Given the description of an element on the screen output the (x, y) to click on. 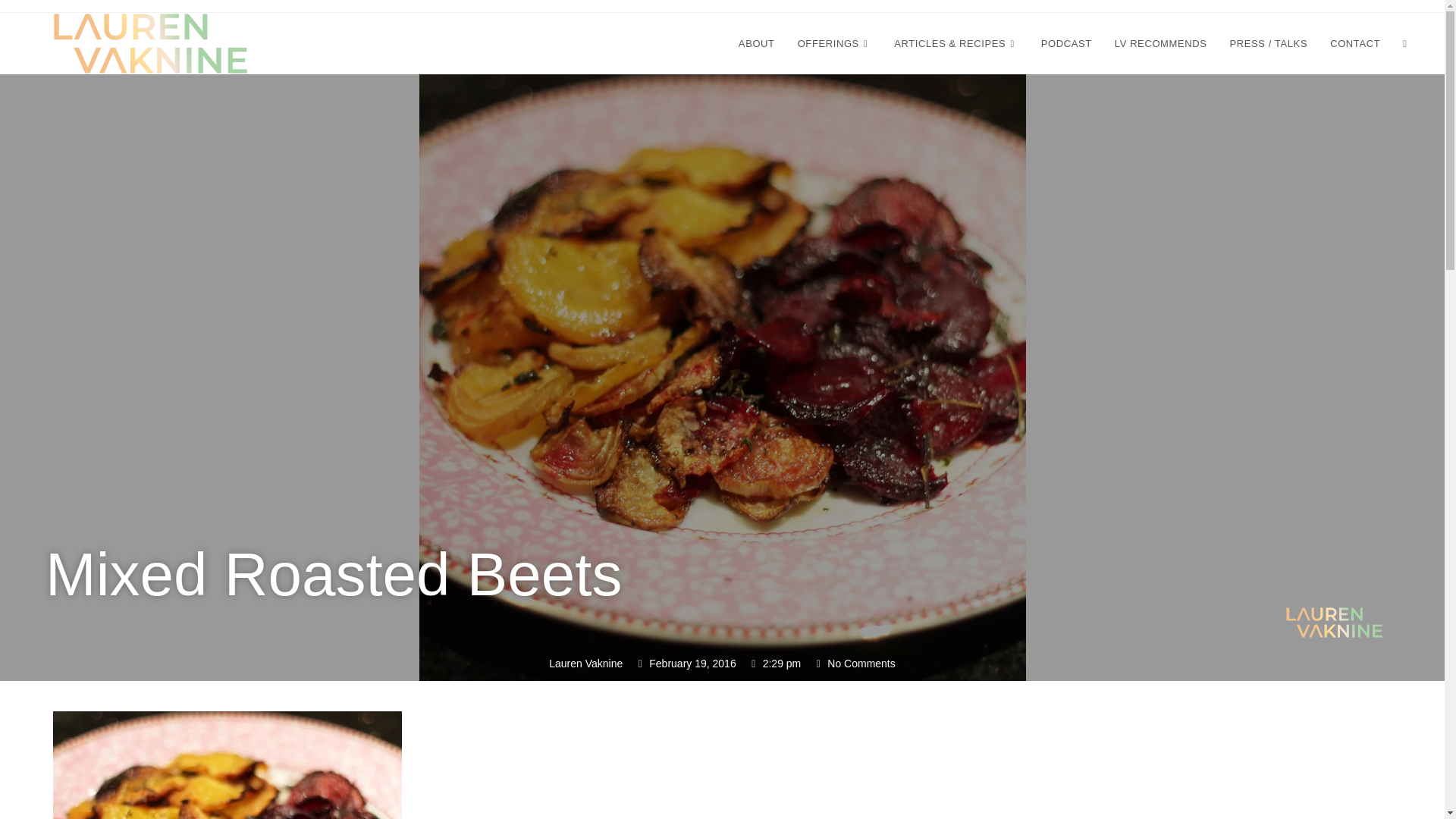
LV RECOMMENDS (1160, 43)
PODCAST (1066, 43)
CONTACT (1355, 43)
ABOUT (756, 43)
OFFERINGS (834, 43)
